Given the description of an element on the screen output the (x, y) to click on. 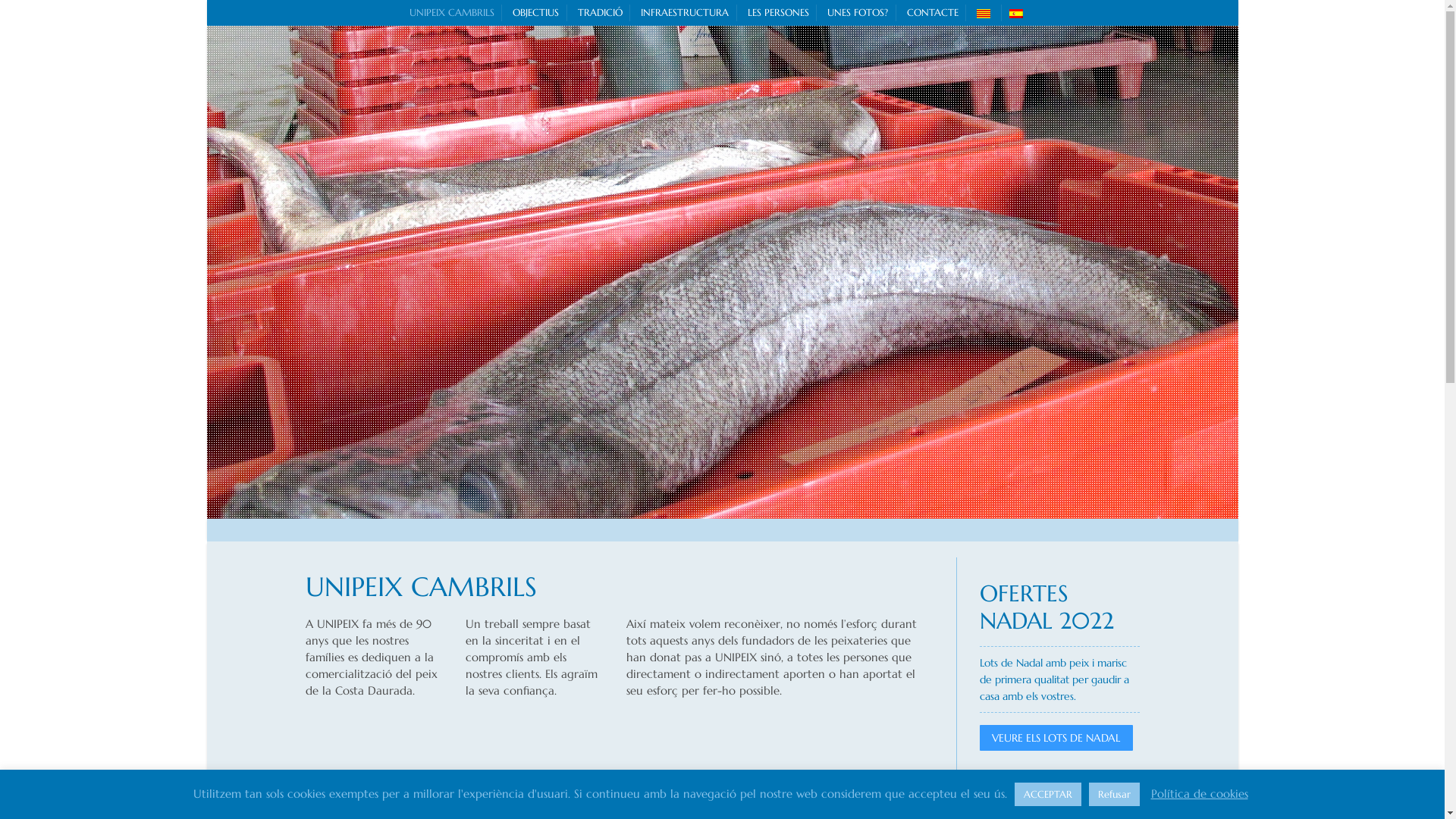
CONTACTE Element type: text (932, 12)
ACCEPTAR Element type: text (1047, 794)
UNIPEIX CAMBRILS Element type: text (451, 12)
UNES FOTOS? Element type: text (857, 12)
OBJECTIUS Element type: text (535, 12)
INFRAESTRUCTURA Element type: text (684, 12)
VEURE ELS LOTS DE NADAL Element type: text (1056, 736)
LES PERSONES Element type: text (778, 12)
Refusar Element type: text (1113, 794)
